Given the description of an element on the screen output the (x, y) to click on. 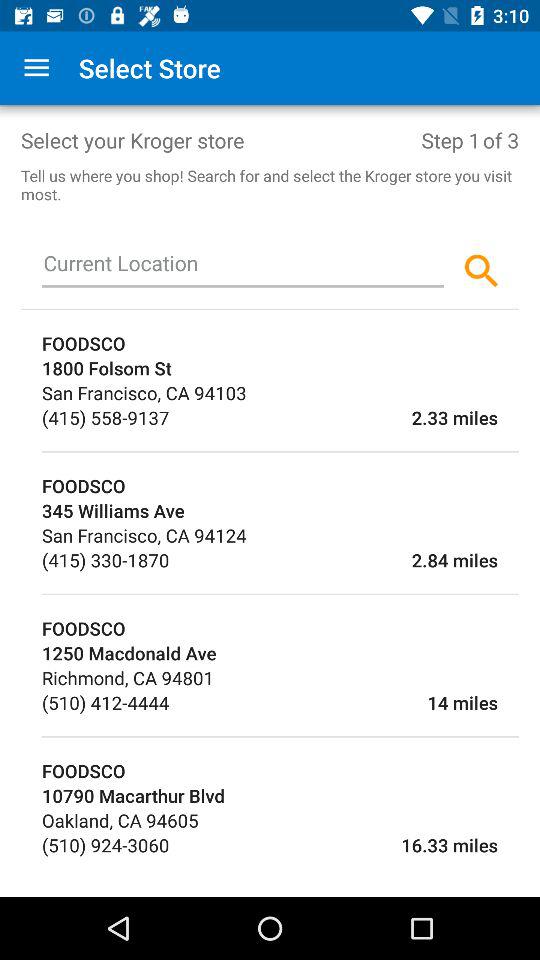
open the (415) 330-1870 item (105, 559)
